Given the description of an element on the screen output the (x, y) to click on. 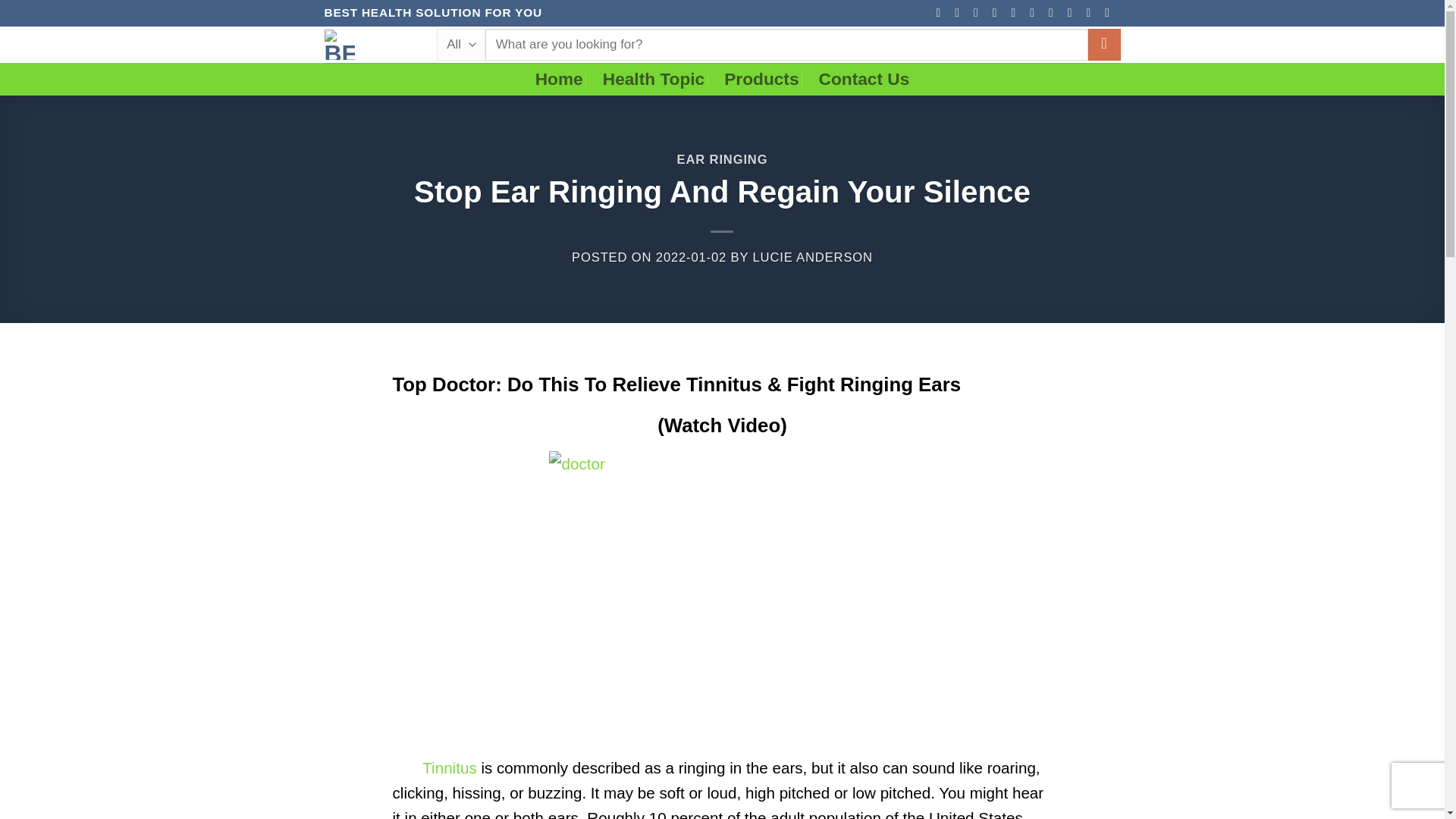
Search (1104, 44)
Health Topic (653, 79)
Tinnitus (449, 767)
Home (559, 79)
LUCIE ANDERSON (812, 257)
Products (760, 79)
Contact Us (864, 79)
2022-01-02 (691, 257)
Best Heath Solution For You - Best Heath Solution For You (368, 44)
EAR RINGING (722, 159)
